Given the description of an element on the screen output the (x, y) to click on. 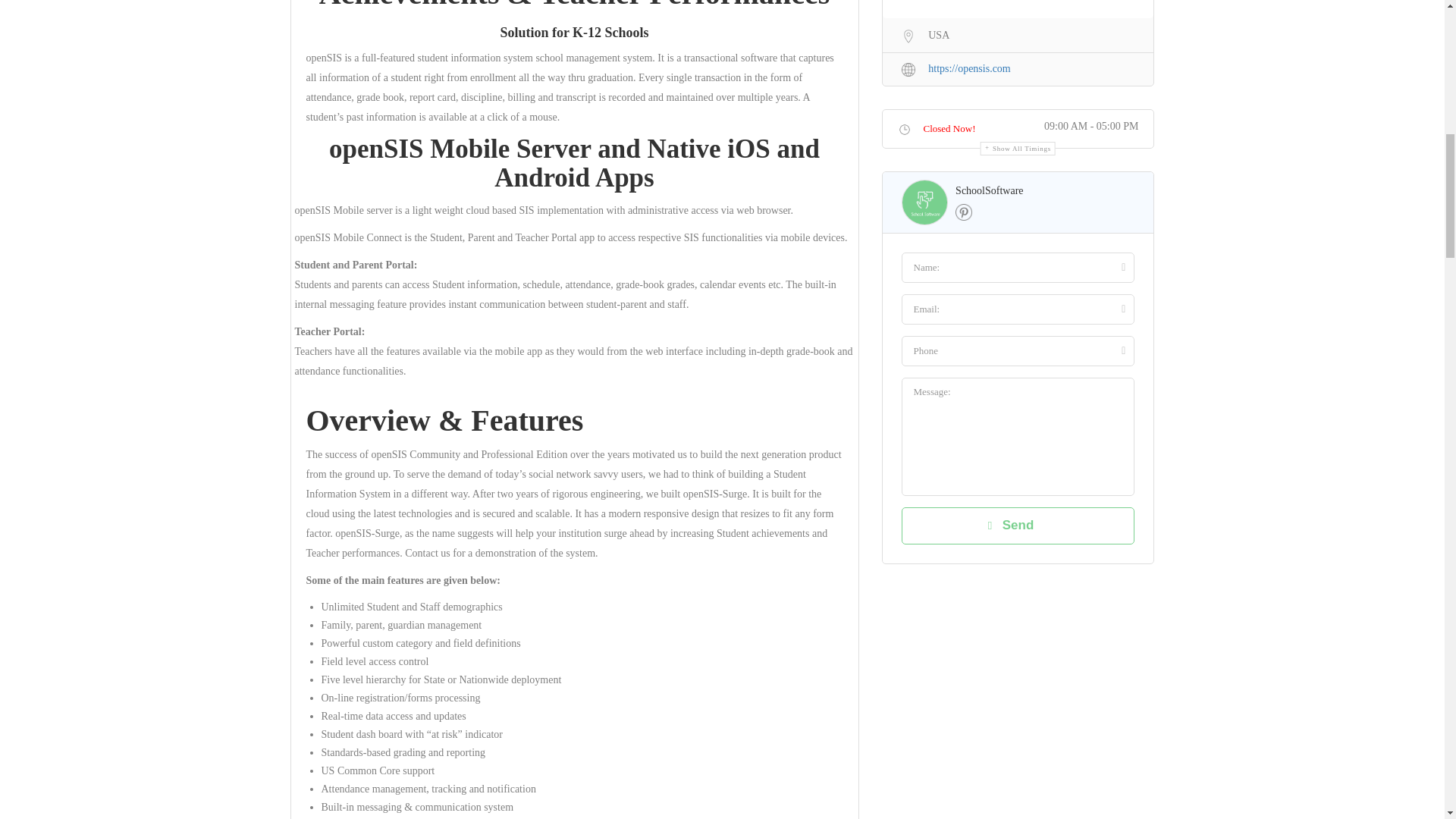
Send (1017, 524)
